Given the description of an element on the screen output the (x, y) to click on. 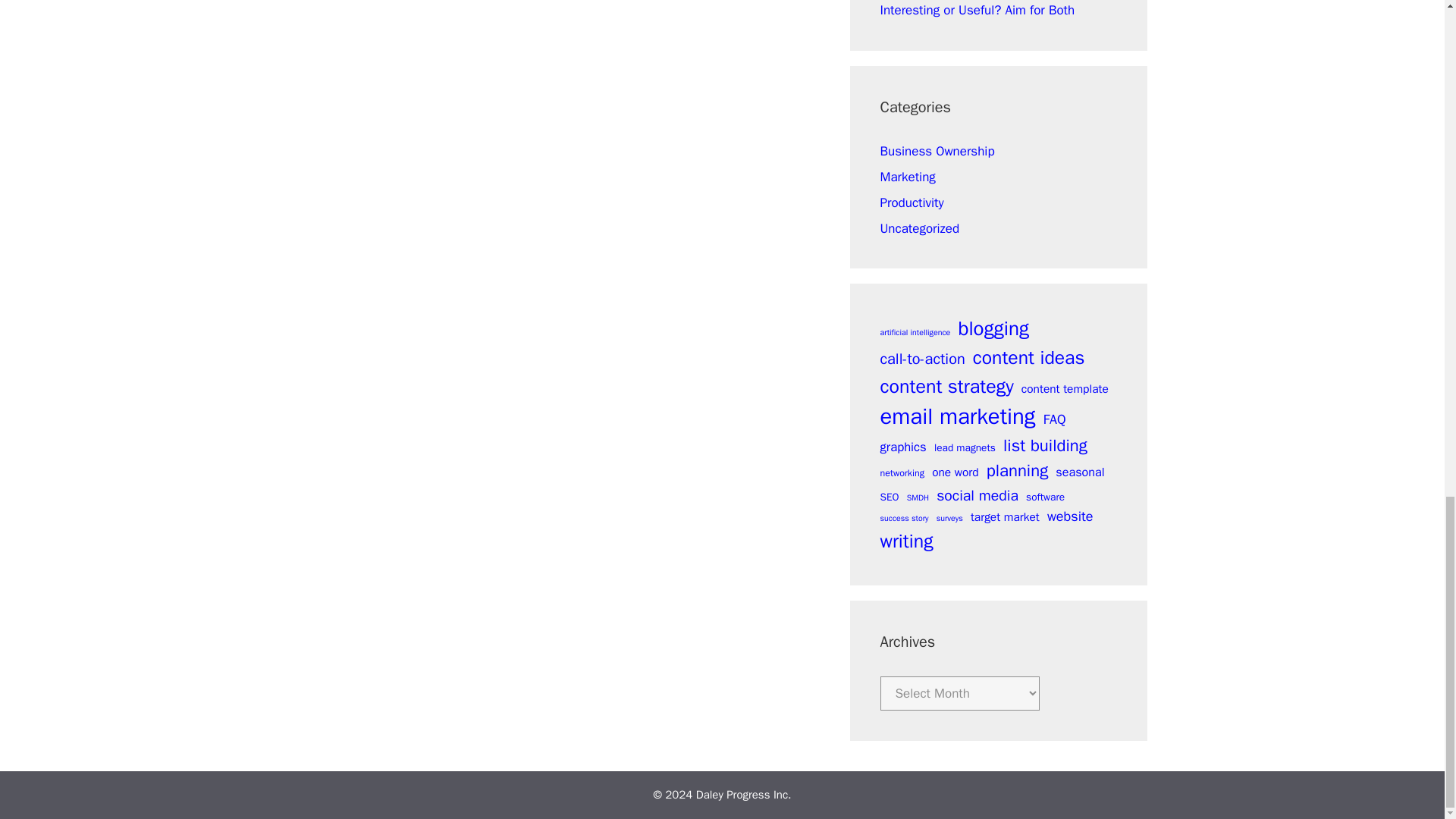
Interesting or Useful? Aim for Both (976, 10)
Scroll back to top (1406, 258)
Business Ownership (936, 150)
Productivity (911, 202)
Uncategorized (919, 228)
Marketing (906, 176)
Daley Progress Inc. (743, 794)
